Given the description of an element on the screen output the (x, y) to click on. 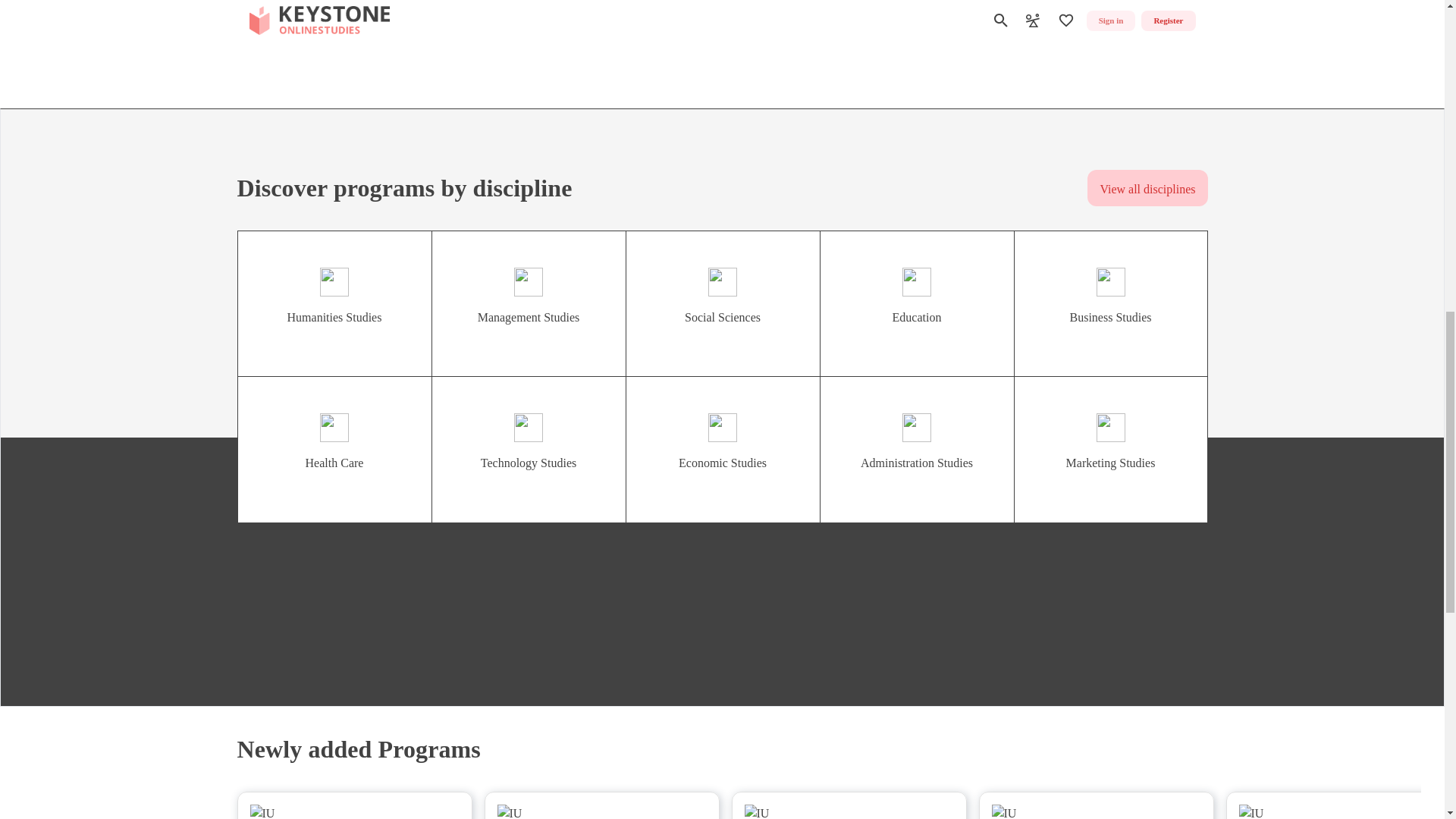
View all disciplines (1147, 187)
